Given the description of an element on the screen output the (x, y) to click on. 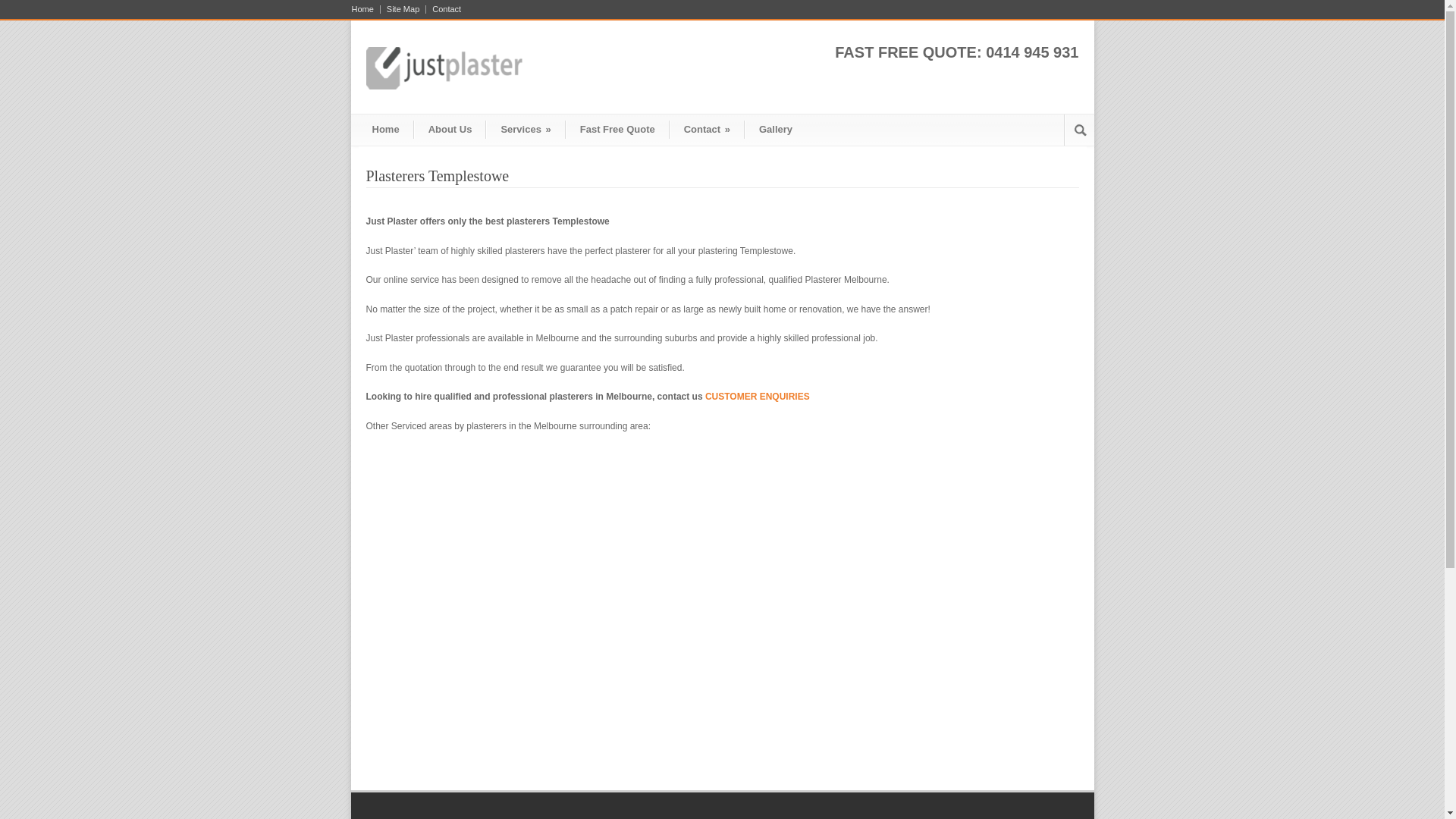
Home Element type: text (385, 128)
Fast Free Quote Element type: text (617, 128)
Contact Element type: text (443, 9)
CUSTOMER ENQUIRIES Element type: text (757, 396)
About Us Element type: text (450, 128)
Gallery Element type: text (775, 128)
Home Element type: text (365, 9)
Site Map Element type: text (403, 9)
